Given the description of an element on the screen output the (x, y) to click on. 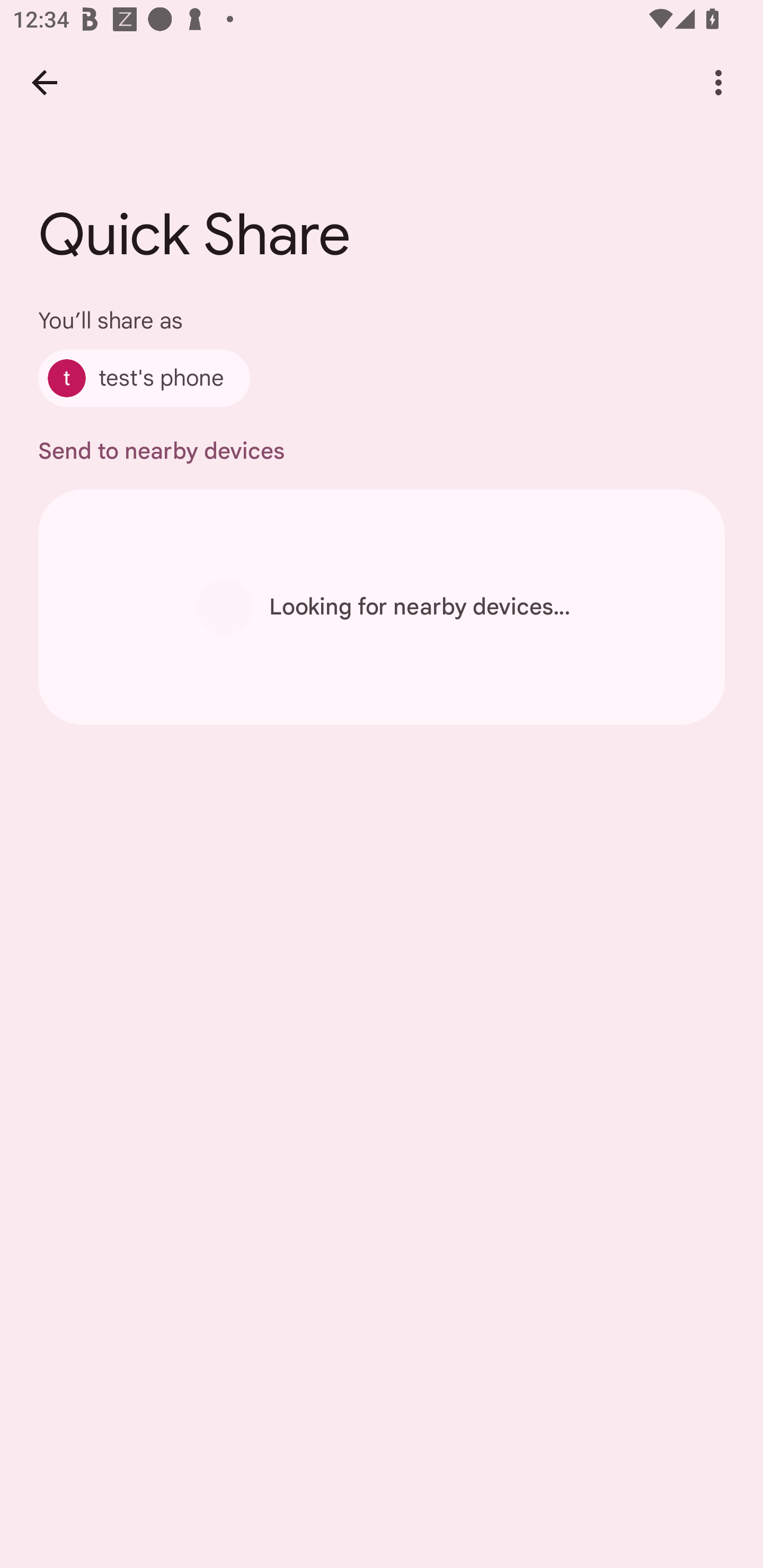
Back (44, 81)
More (718, 81)
test's phone (144, 378)
